Given the description of an element on the screen output the (x, y) to click on. 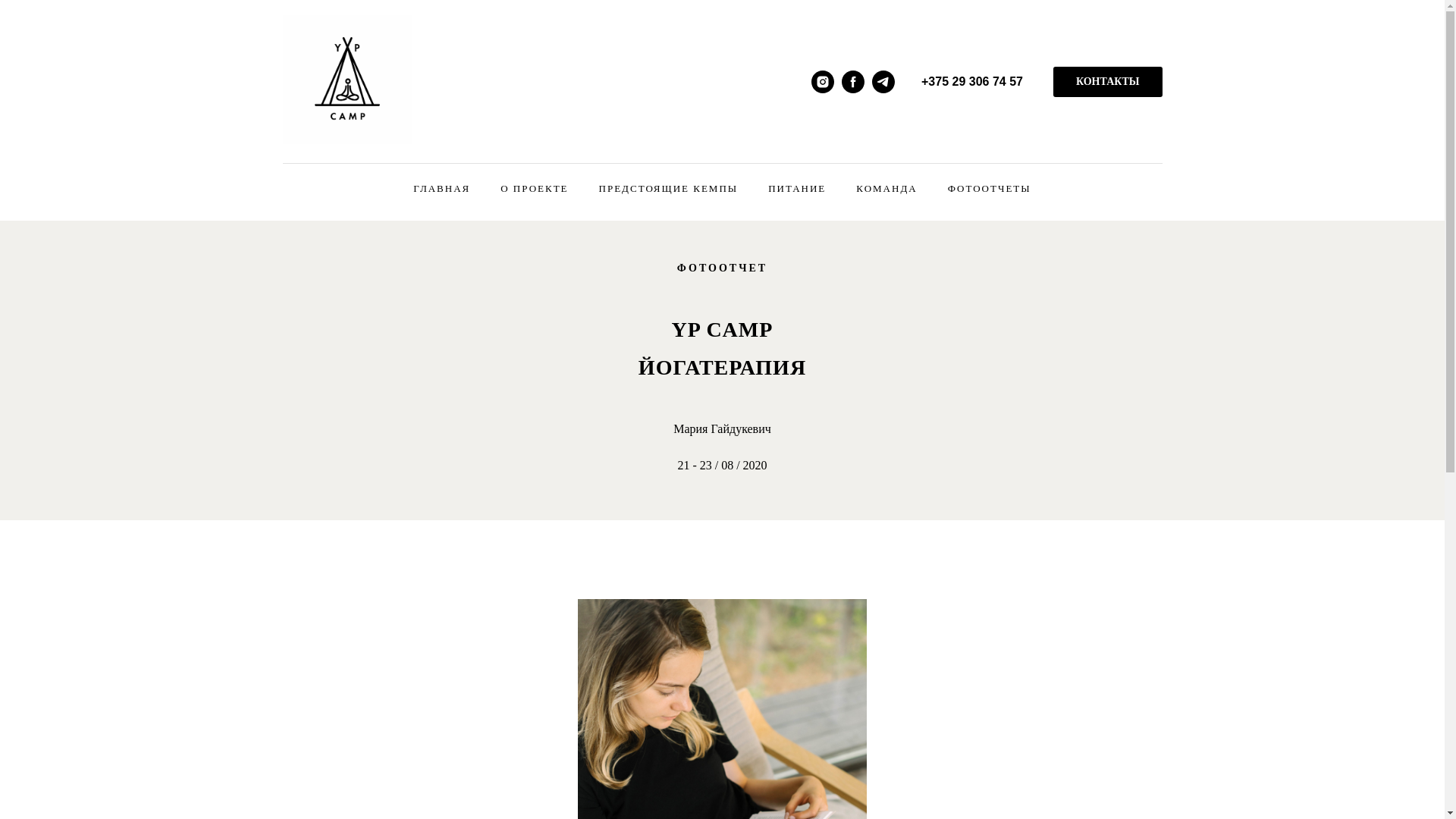
Telegram Element type: hover (883, 81)
Instagram Element type: hover (822, 81)
+375 29 306 74 57 Element type: text (971, 81)
Facebook Element type: hover (852, 81)
